Given the description of an element on the screen output the (x, y) to click on. 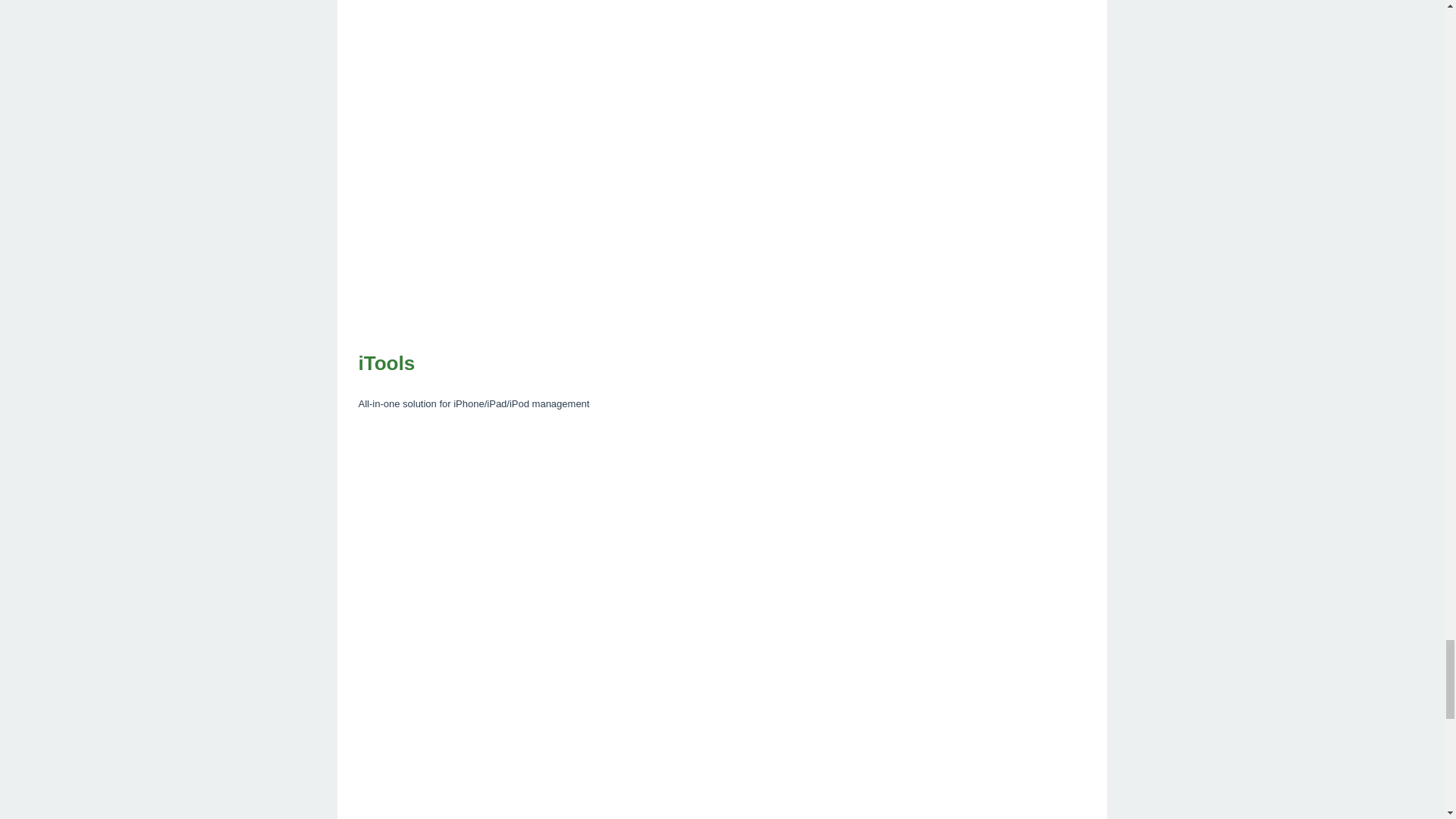
iTools (722, 364)
